Given the description of an element on the screen output the (x, y) to click on. 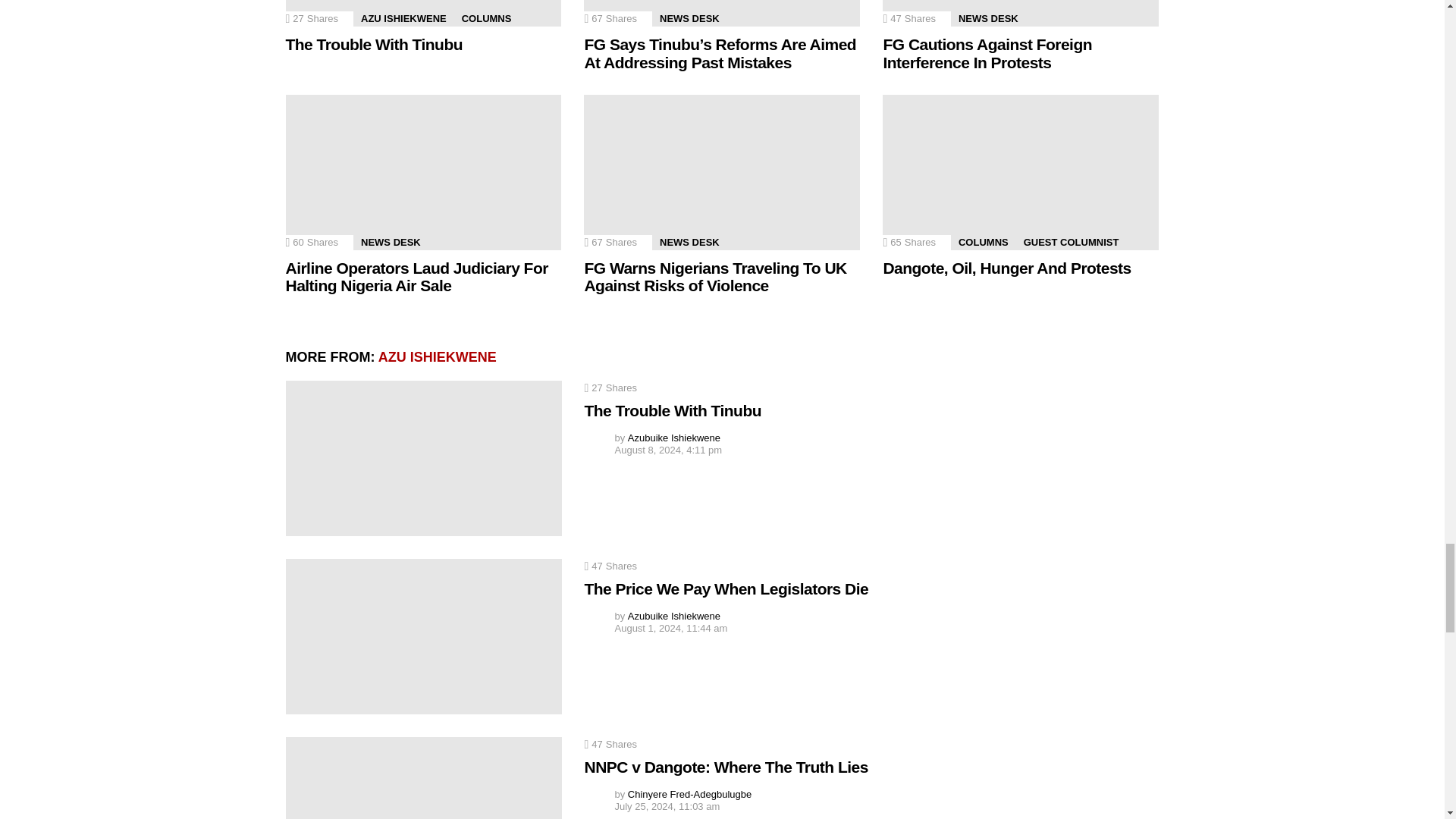
Posts by Azubuike Ishiekwene (673, 437)
Posts by Azubuike Ishiekwene (673, 615)
The Trouble With Tinubu (422, 458)
The Price We Pay When Legislators Die (422, 636)
The Trouble With Tinubu (422, 13)
Posts by Chinyere Fred-Adegbulugbe (689, 794)
AZU ISHIEKWENE (403, 18)
Dangote, Oil, Hunger And Protests (1020, 172)
FG Warns Nigerians Traveling To UK Against Risks of Violence (721, 172)
